Given the description of an element on the screen output the (x, y) to click on. 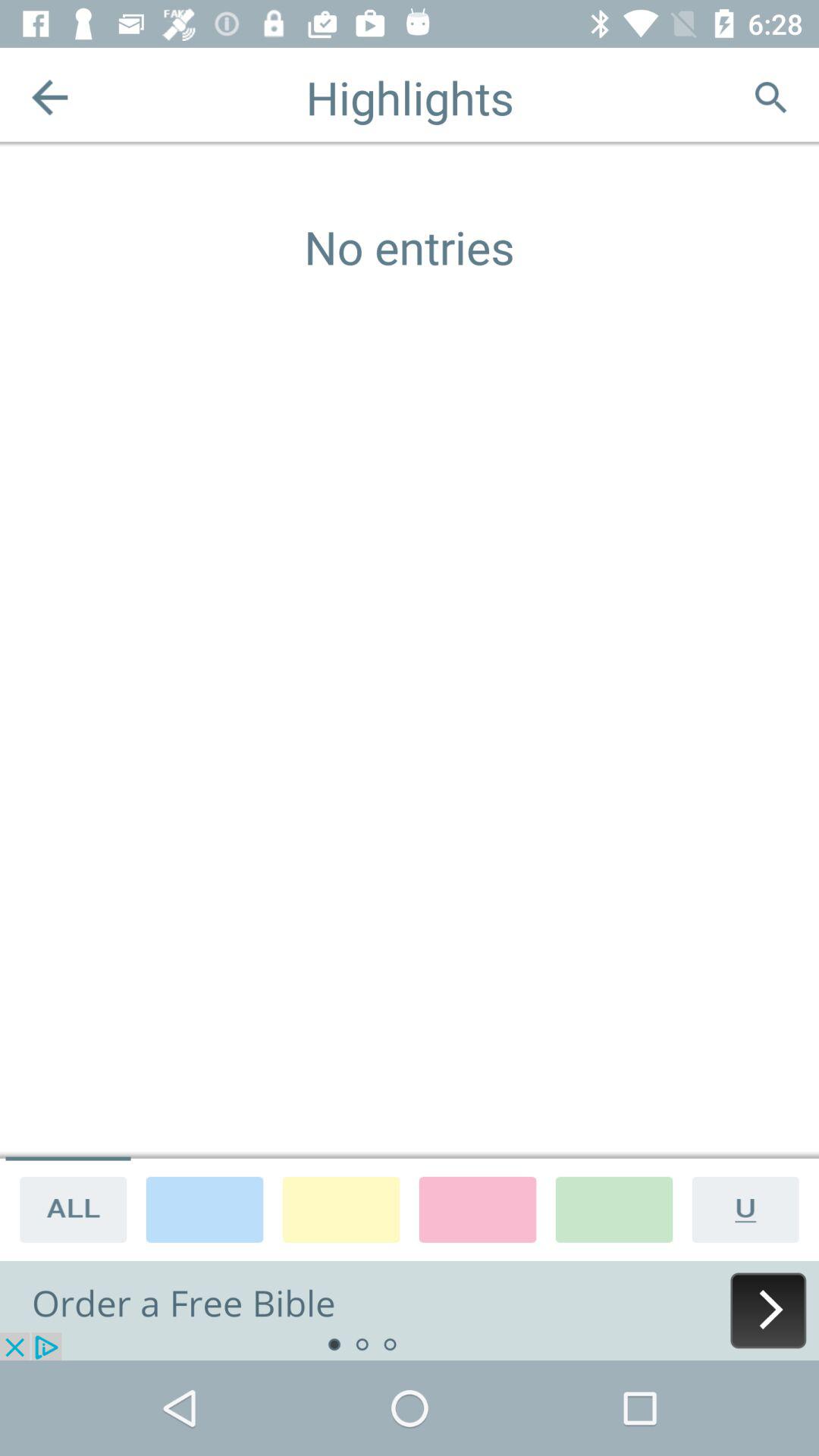
select the pink colour (477, 1208)
